Given the description of an element on the screen output the (x, y) to click on. 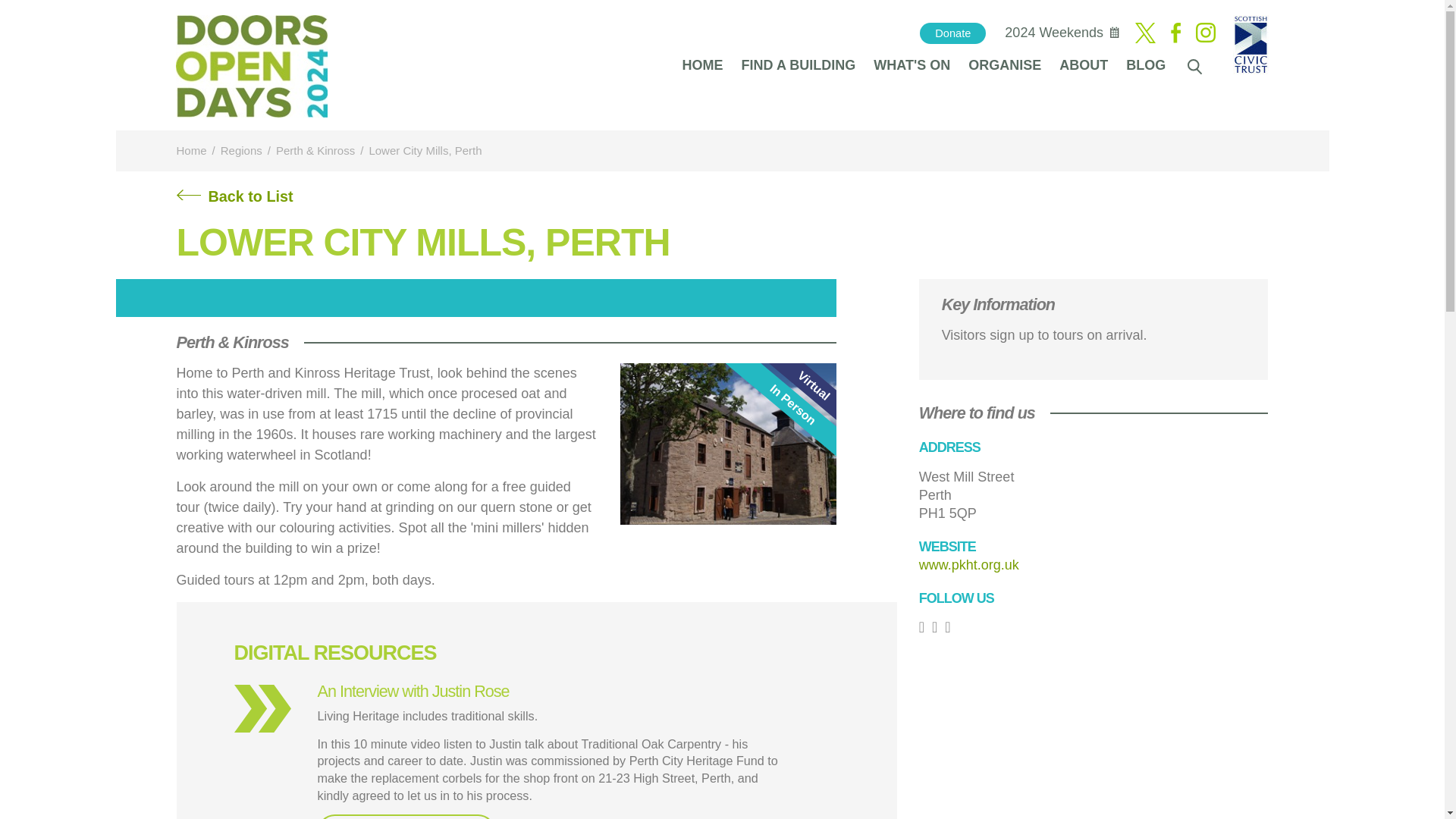
Donate with PayPal (952, 33)
WHAT'S ON (911, 64)
back to list (234, 201)
Donate (952, 33)
Listen to an interview! (406, 816)
Regions (241, 150)
Donate (952, 33)
BLOG (1145, 64)
HOME (702, 64)
2024 Weekends (1053, 32)
